Given the description of an element on the screen output the (x, y) to click on. 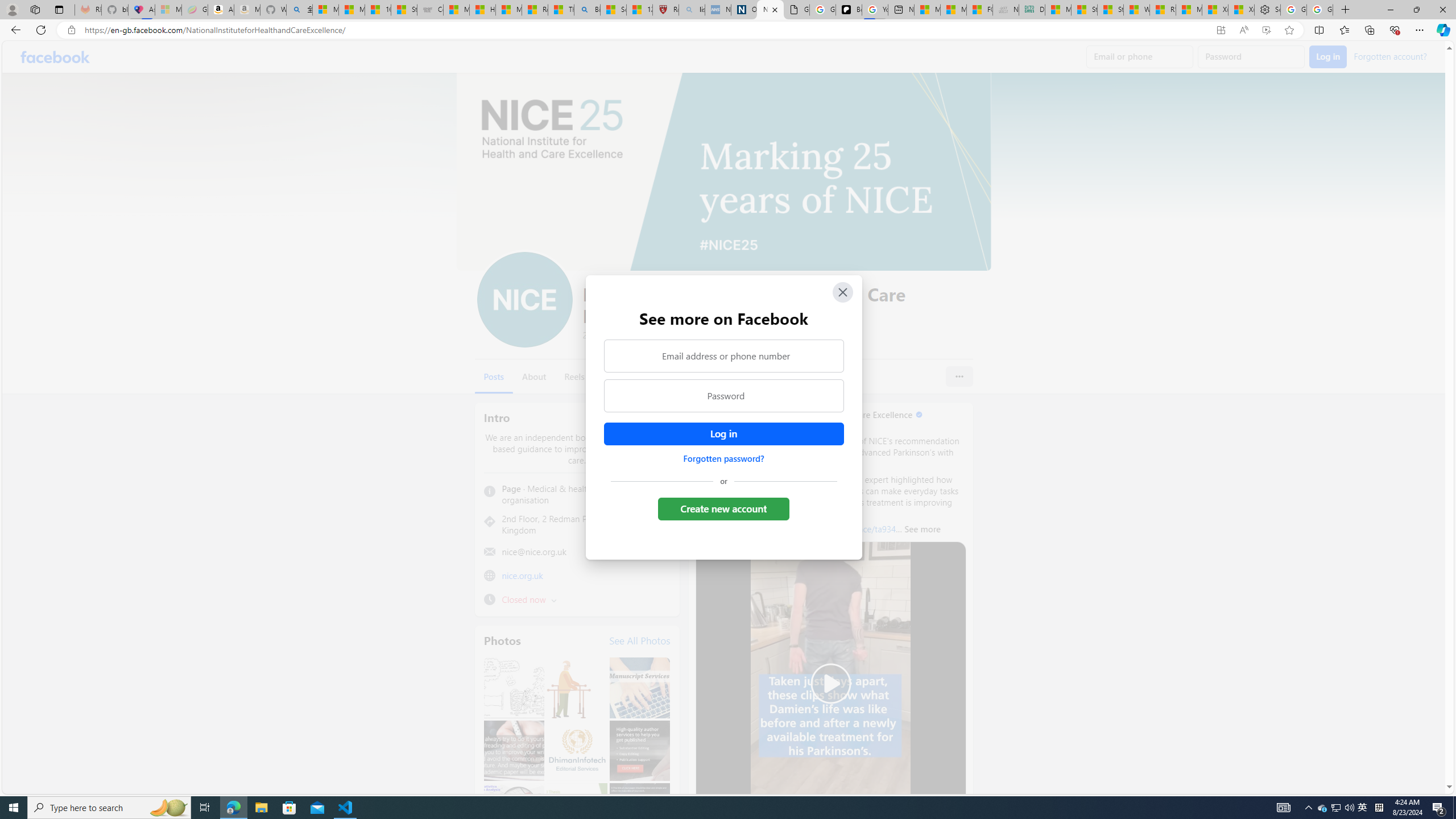
Forgotten password? (723, 458)
